Given the description of an element on the screen output the (x, y) to click on. 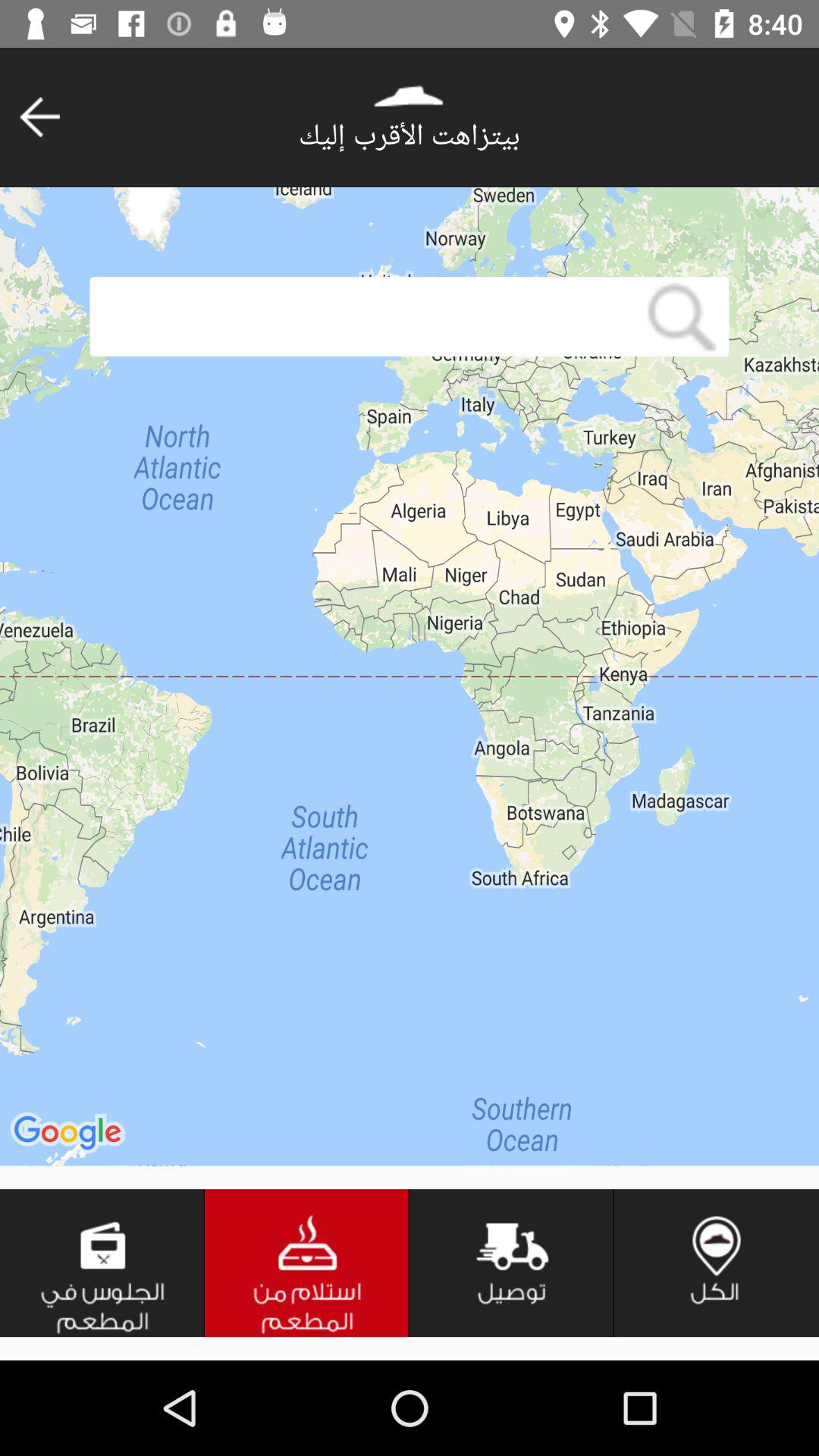
go back (39, 117)
